Given the description of an element on the screen output the (x, y) to click on. 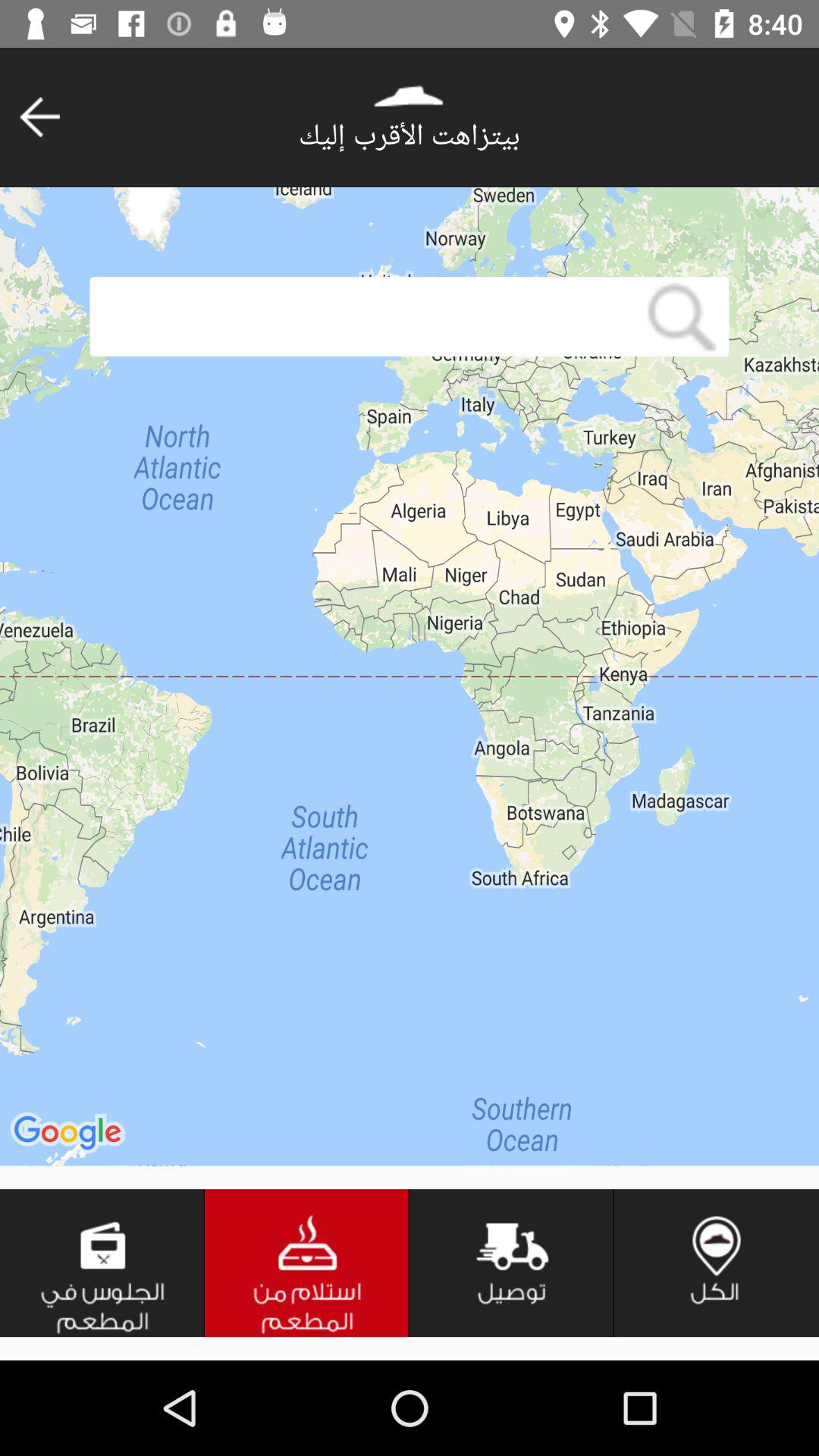
go back (39, 117)
